Given the description of an element on the screen output the (x, y) to click on. 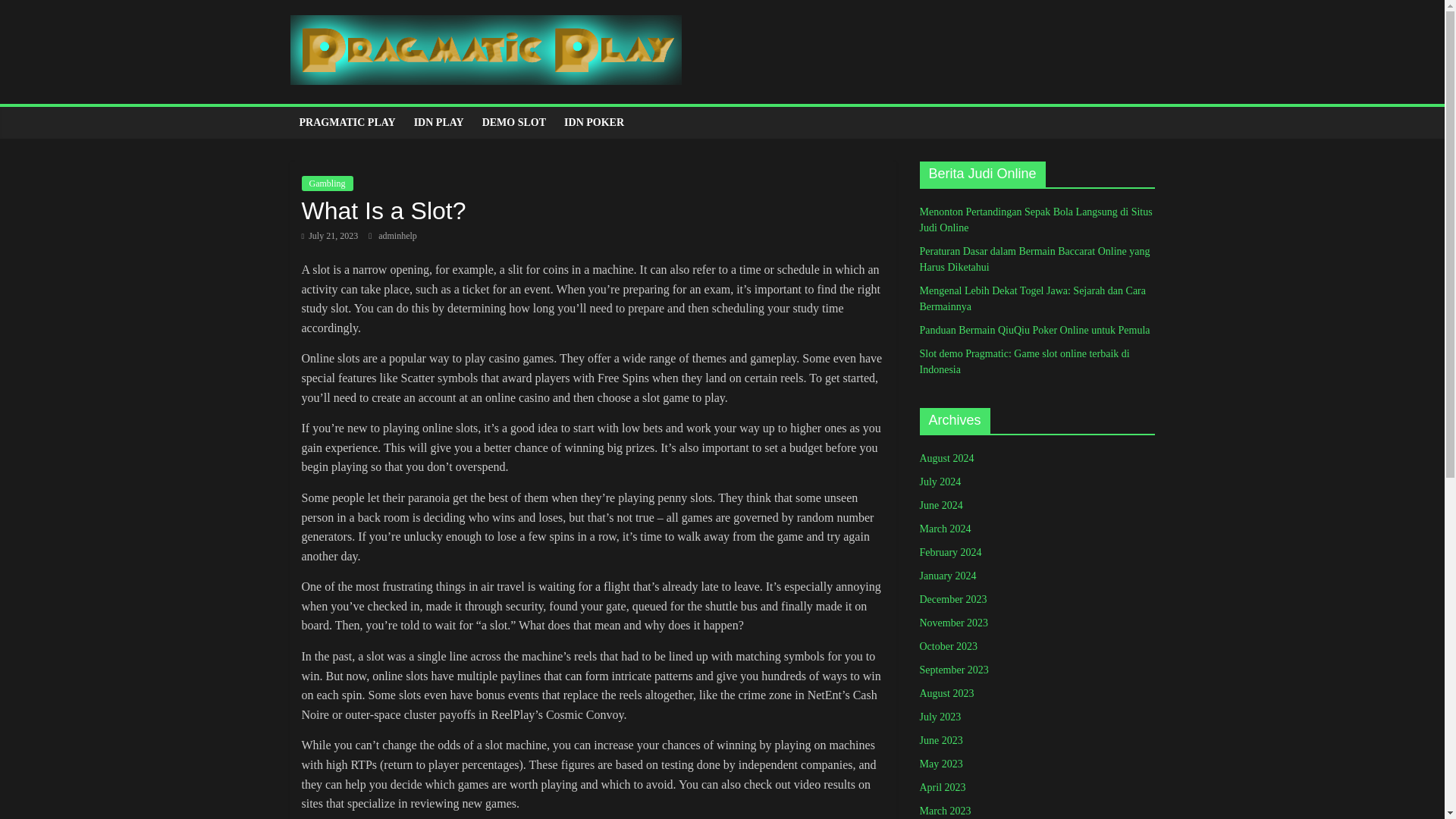
June 2023 (940, 740)
September 2023 (953, 669)
Slot demo Pragmatic: Game slot online terbaik di Indonesia (1023, 361)
IDN PLAY (438, 122)
March 2023 (944, 810)
January 2024 (946, 575)
July 2023 (939, 716)
adminhelp (397, 235)
July 2024 (939, 481)
April 2023 (941, 787)
